Given the description of an element on the screen output the (x, y) to click on. 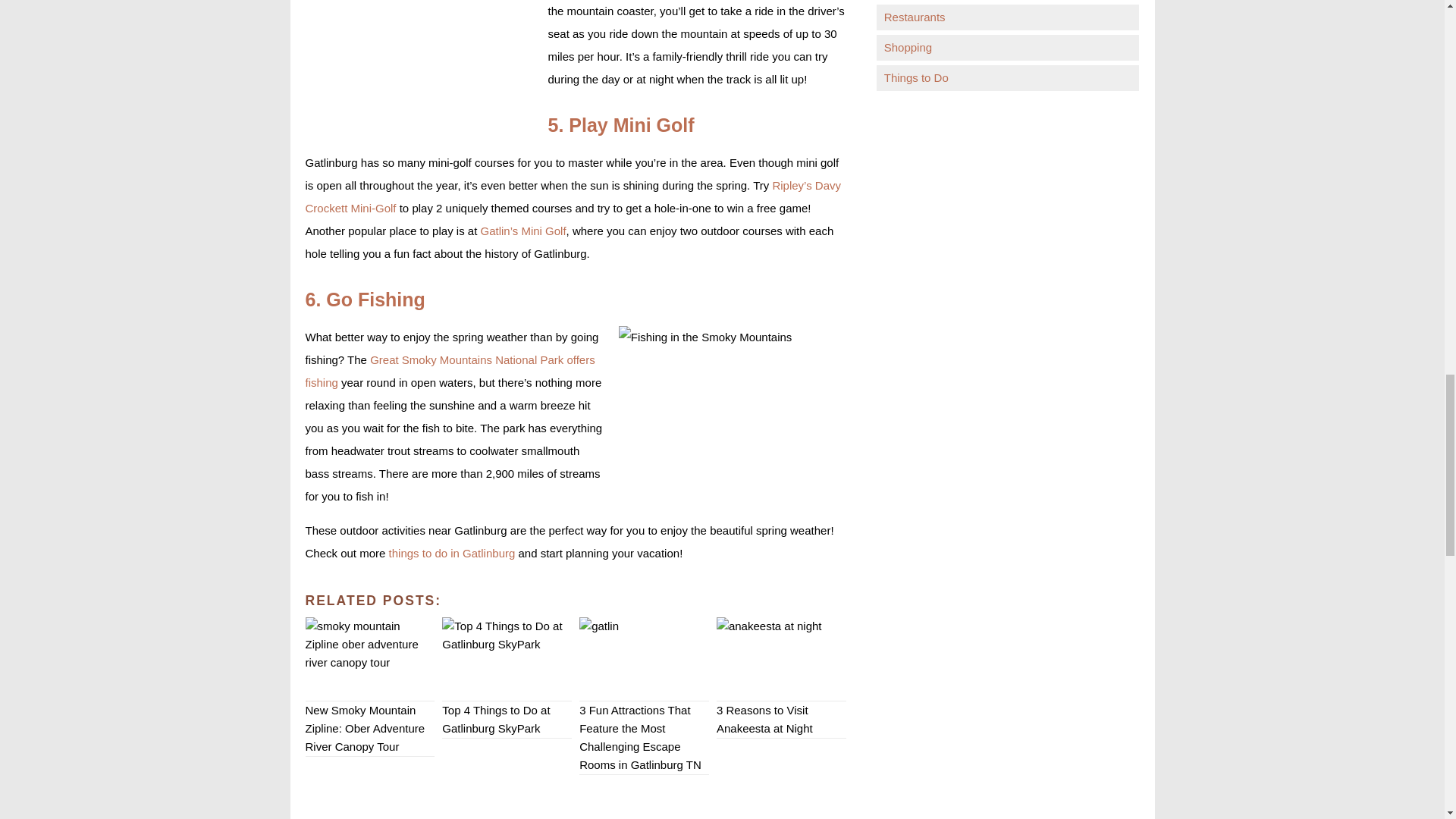
3 Reasons to Visit Anakeesta at Night (780, 659)
Top 4 Things to Do at Gatlinburg SkyPark (507, 659)
New Smoky Mountain Zipline: Ober Adventure River Canopy Tour (368, 659)
